Given the description of an element on the screen output the (x, y) to click on. 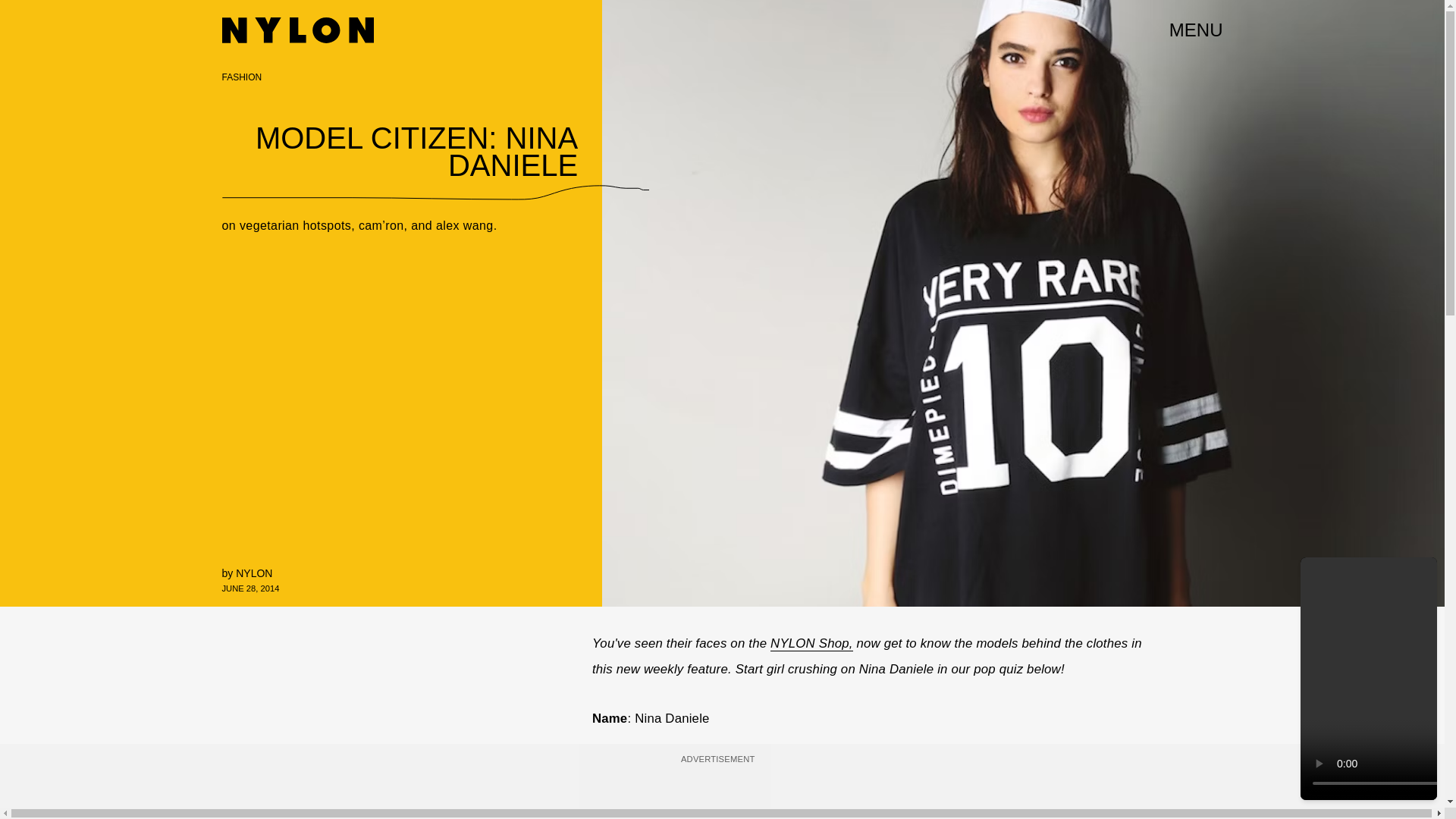
Nylon (296, 30)
NYLON Shop, (811, 643)
